Given the description of an element on the screen output the (x, y) to click on. 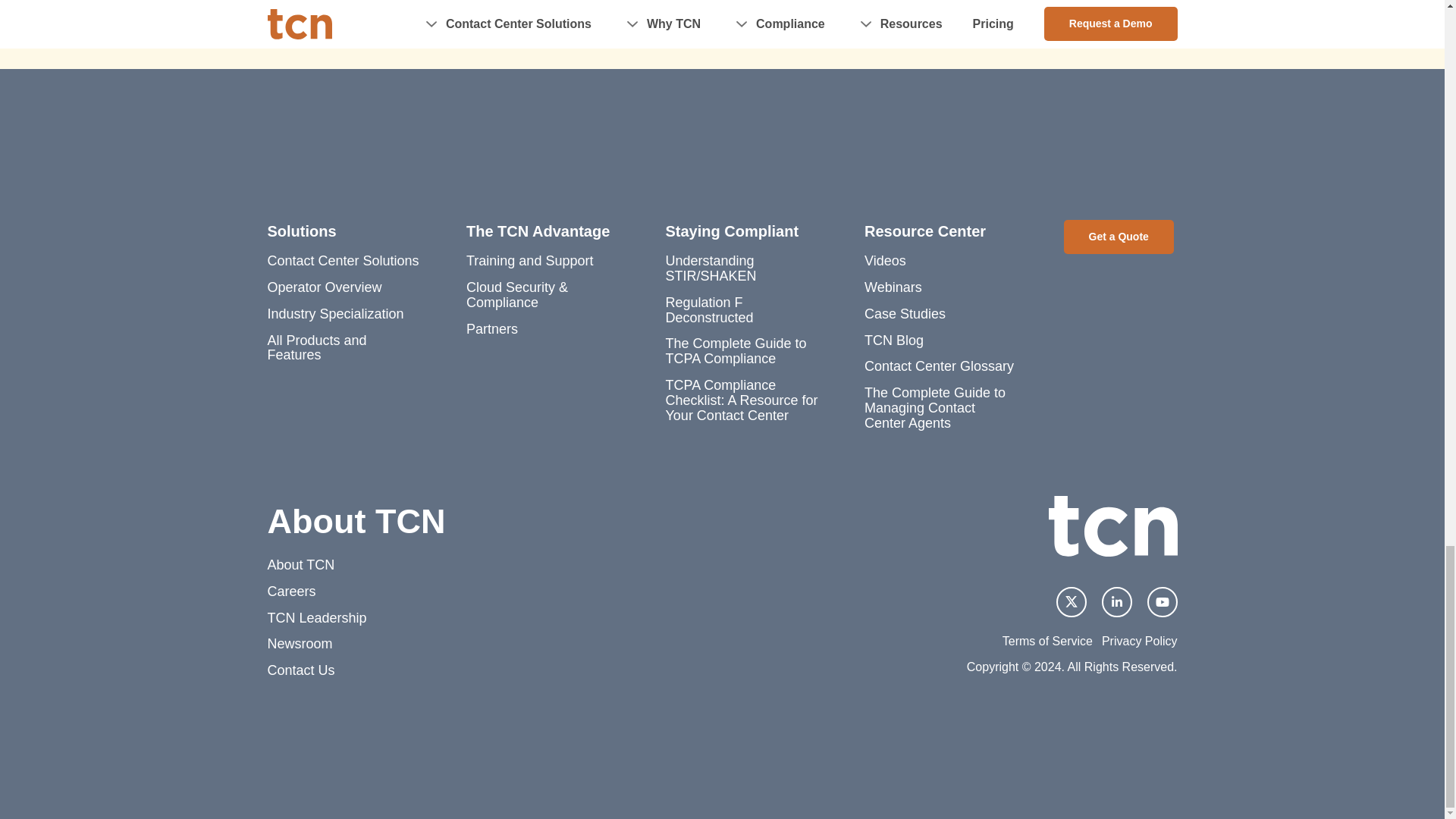
TCN (1112, 526)
